Given the description of an element on the screen output the (x, y) to click on. 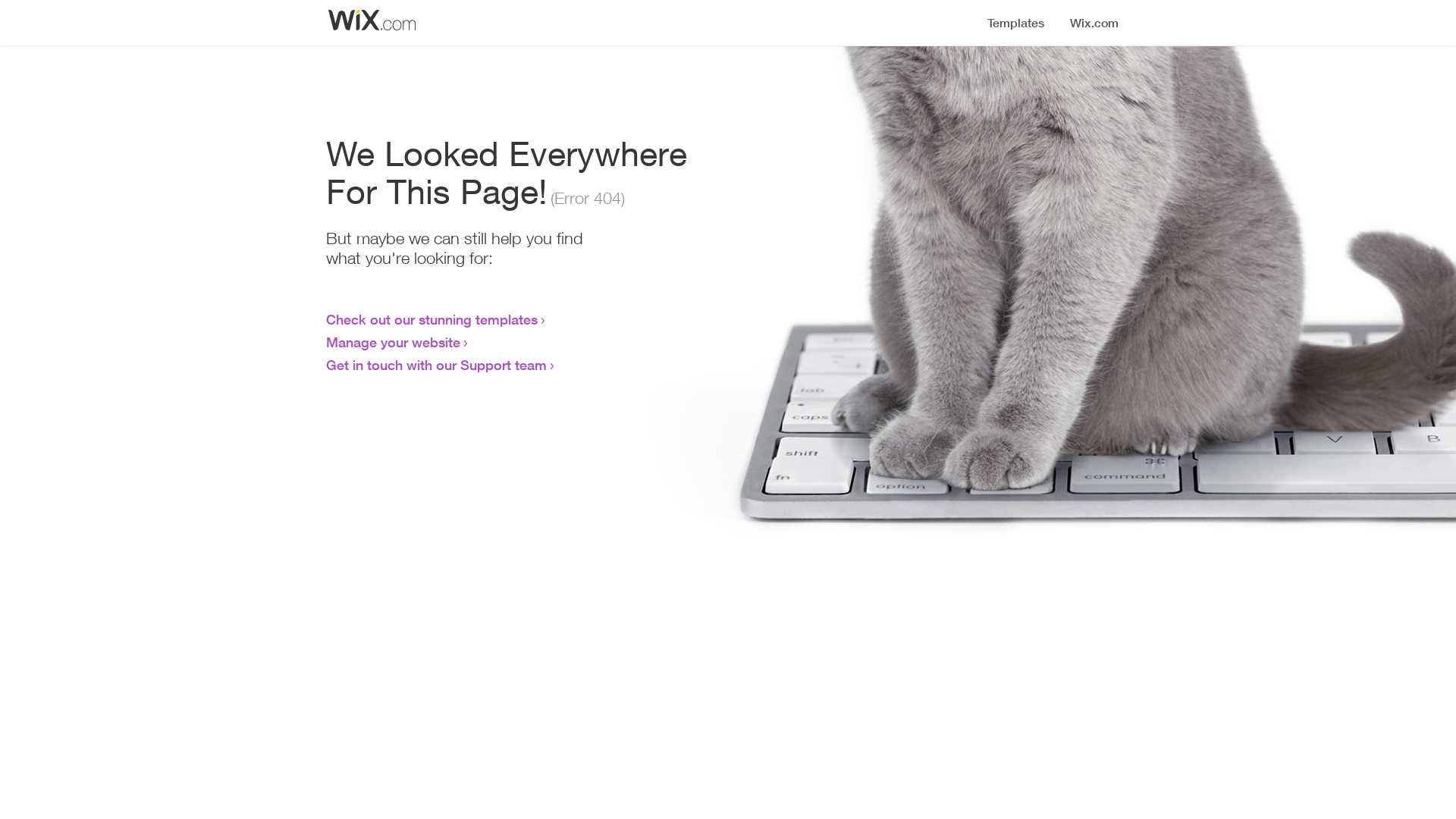
Check out our stunning templates Element type: text (431, 318)
Manage your website Element type: text (393, 341)
Get in touch with our Support team Element type: text (436, 364)
